Given the description of an element on the screen output the (x, y) to click on. 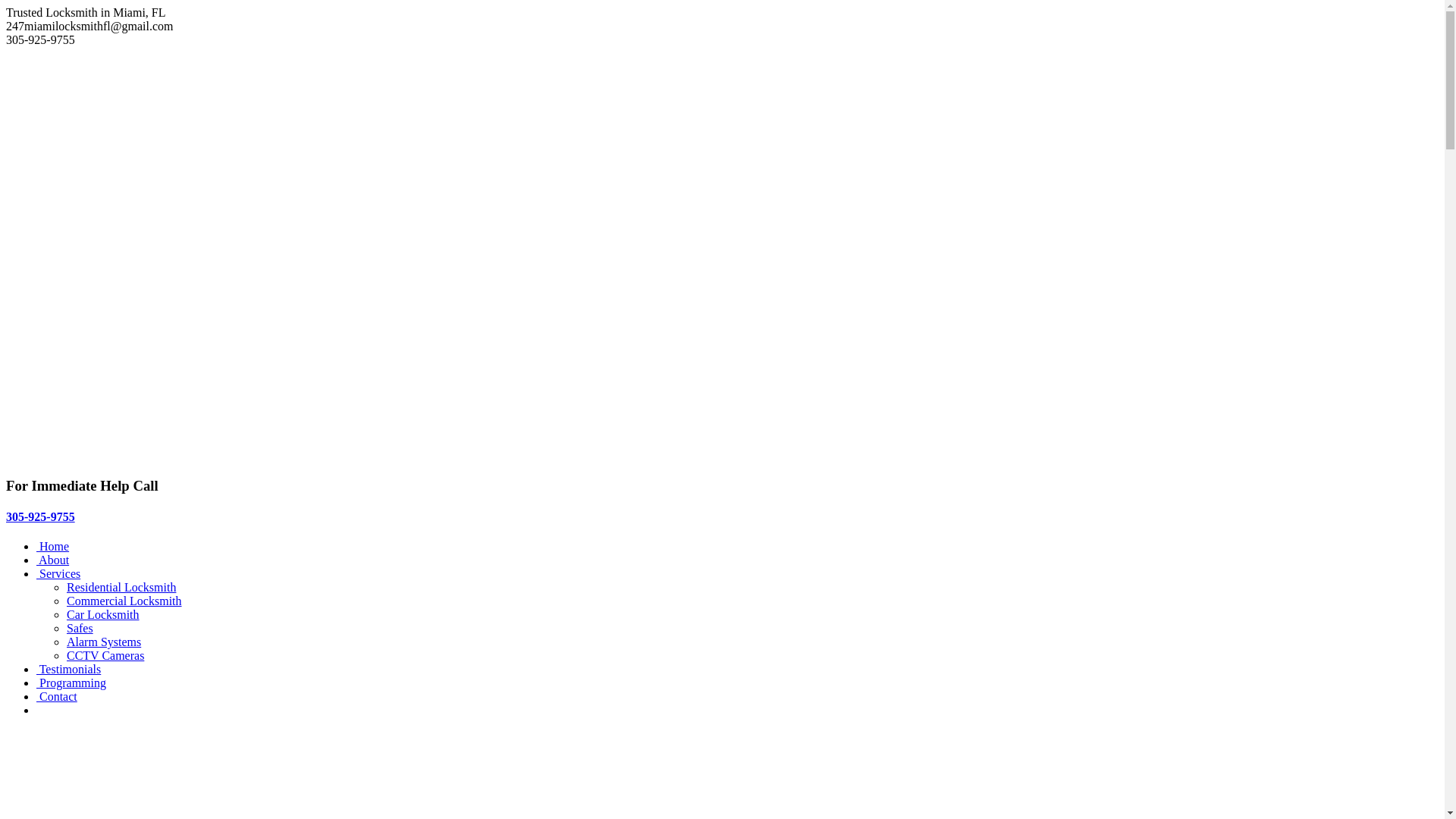
 Services Element type: text (58, 573)
 Testimonials Element type: text (68, 668)
 Contact Element type: text (56, 696)
Car Locksmith Element type: text (102, 614)
305-925-9755 Element type: text (40, 516)
Residential Locksmith Element type: text (120, 586)
 Home Element type: text (52, 545)
CCTV Cameras Element type: text (105, 655)
Safes Element type: text (79, 627)
Alarm Systems Element type: text (103, 641)
 About Element type: text (52, 559)
 Programming Element type: text (71, 682)
Commercial Locksmith Element type: text (124, 600)
